Given the description of an element on the screen output the (x, y) to click on. 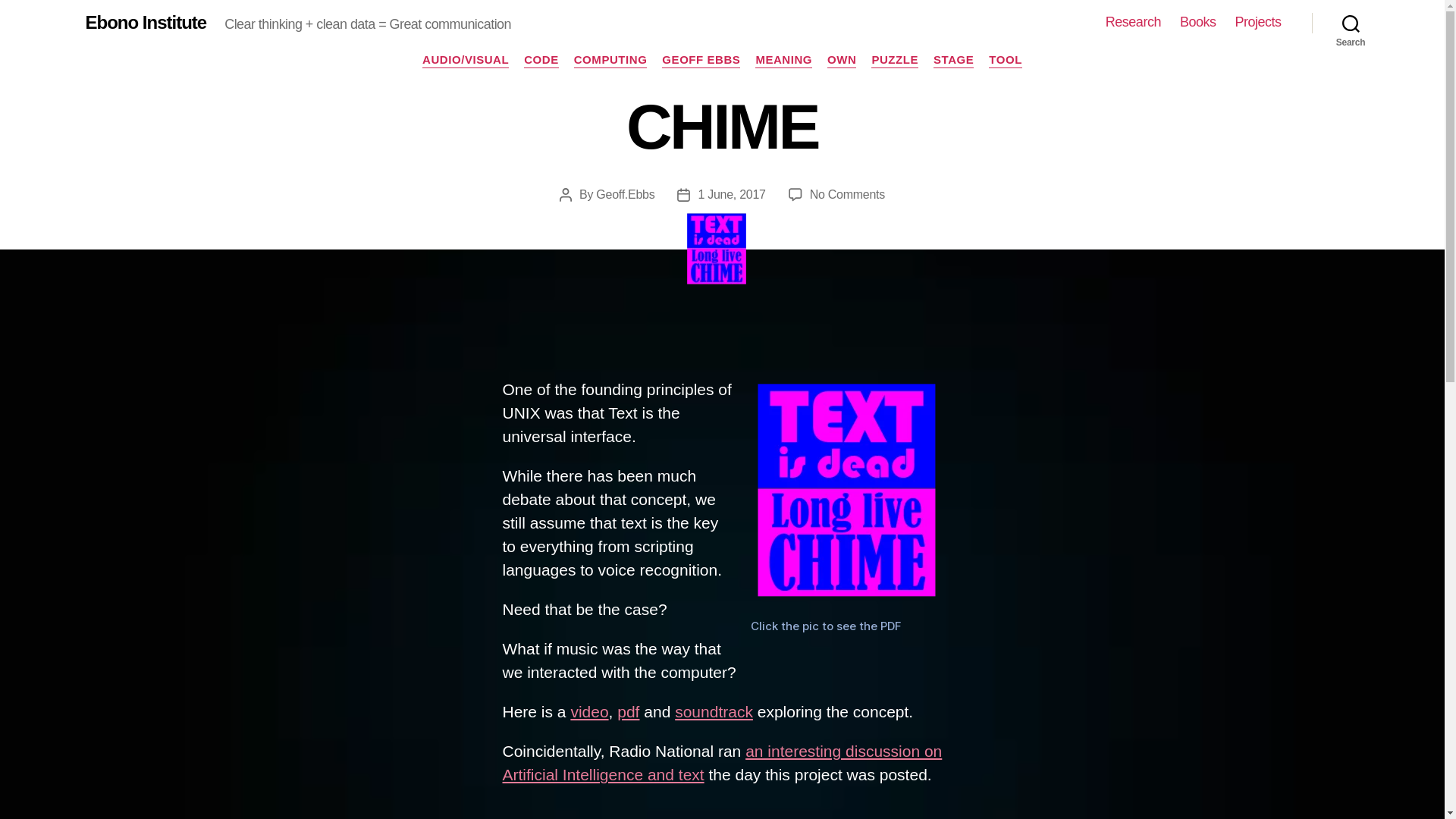
GEOFF EBBS Element type: text (701, 60)
1 June, 2017 Element type: text (731, 194)
Ebono Institute Element type: text (145, 22)
pdf Element type: text (628, 711)
TOOL Element type: text (1005, 60)
MEANING Element type: text (783, 60)
OWN Element type: text (841, 60)
CODE Element type: text (541, 60)
STAGE Element type: text (953, 60)
No Comments
on CHIME Element type: text (846, 194)
Search Element type: text (1350, 22)
PUZZLE Element type: text (894, 60)
Projects Element type: text (1257, 22)
Research Element type: text (1133, 22)
soundtrack Element type: text (713, 711)
AUDIO/VISUAL Element type: text (465, 60)
Books Element type: text (1197, 22)
video Element type: text (589, 711)
Geoff.Ebbs Element type: text (625, 194)
COMPUTING Element type: text (610, 60)
